Given the description of an element on the screen output the (x, y) to click on. 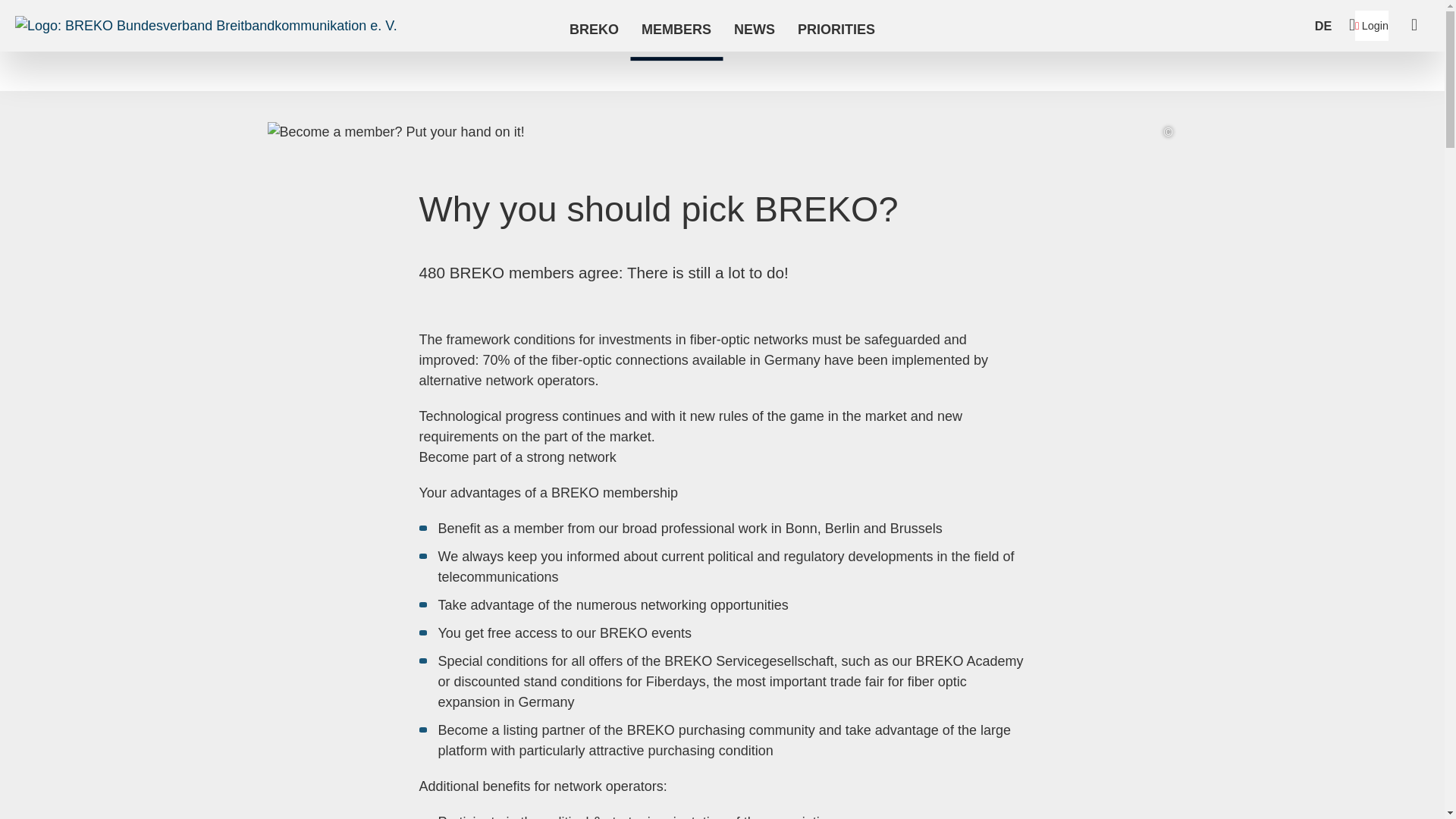
PRIORITIES (836, 30)
BREKO (593, 30)
MEMBERS (676, 30)
NEWS (754, 30)
Become a member? Put your hand on it! (395, 132)
